Given the description of an element on the screen output the (x, y) to click on. 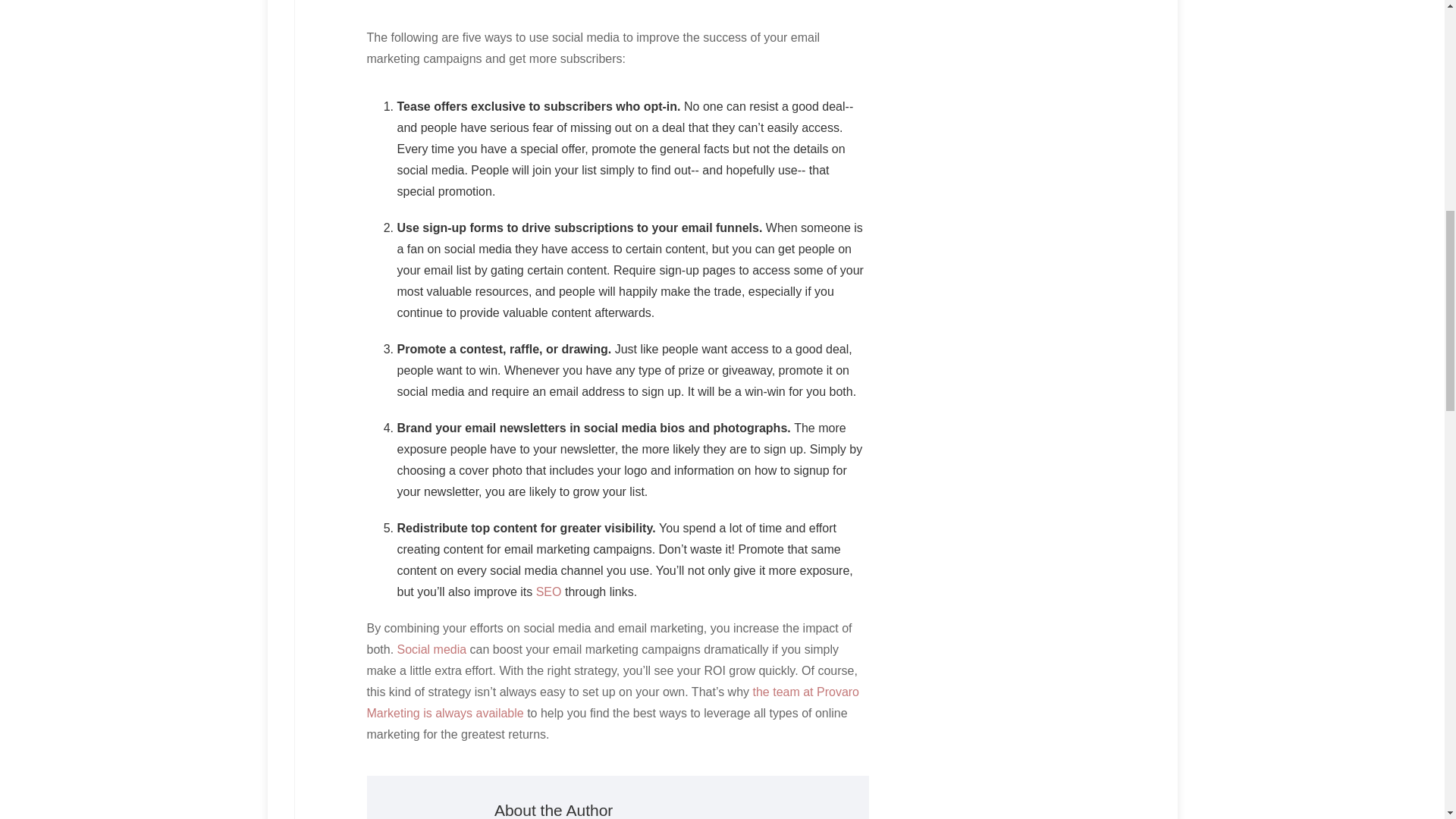
SEO (548, 591)
the team at Provaro Marketing is always available (613, 702)
Social media (432, 649)
